Given the description of an element on the screen output the (x, y) to click on. 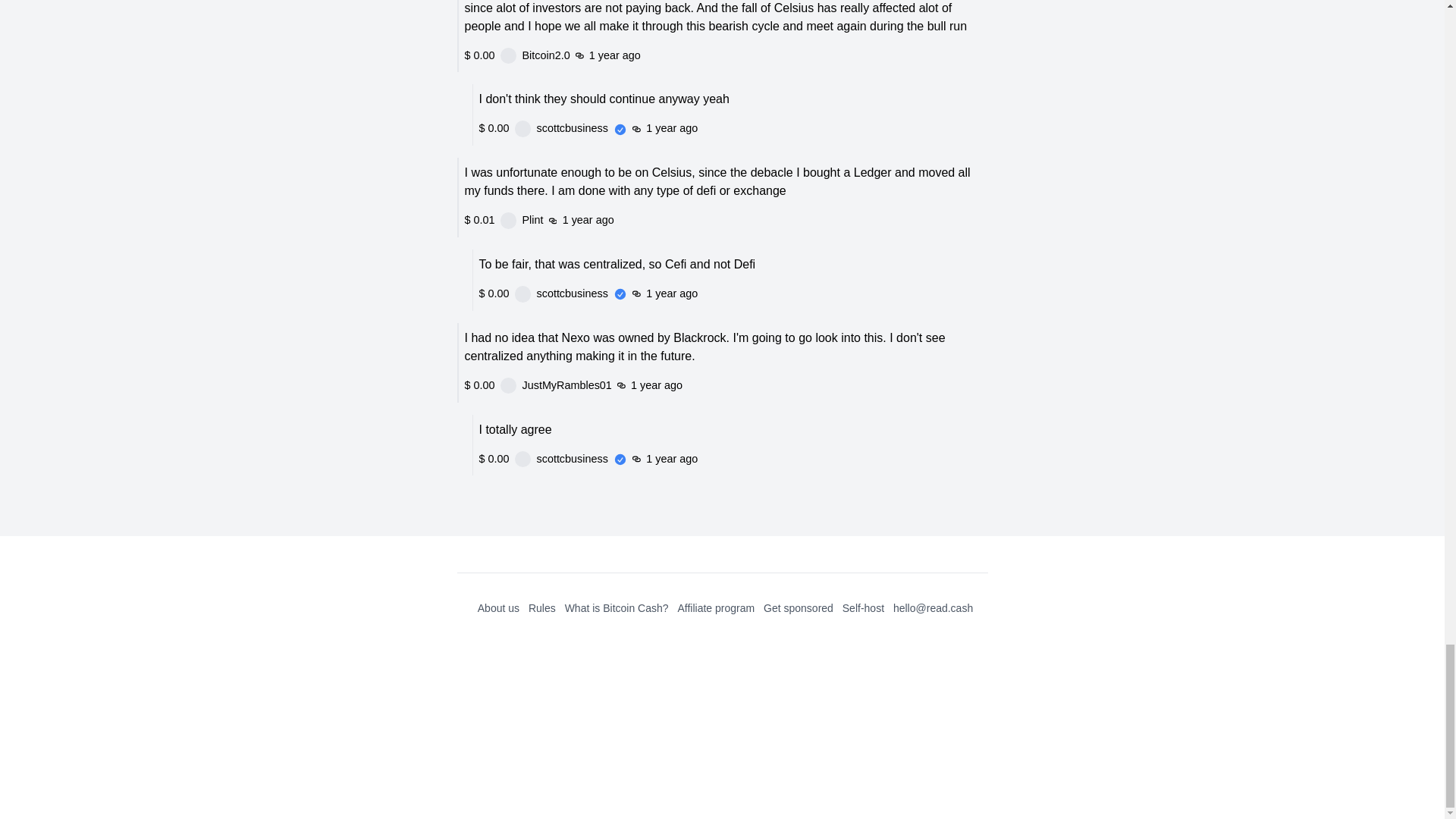
2022-08-09 10:22:51 (681, 190)
2022-07-24 04:59:02 (653, 597)
2022-07-28 02:24:41 (671, 291)
2022-07-24 17:54:37 (746, 495)
2022-08-27 10:33:36 (694, 27)
Link to this comment (666, 108)
Link to this comment (707, 678)
2022-07-24 09:18:34 (682, 413)
Link to this comment (631, 292)
Link to this comment (614, 596)
2022-08-18 01:27:22 (706, 108)
Link to this comment (641, 190)
Link to this comment (707, 495)
Link to this comment (654, 26)
Link to this comment (643, 414)
